Given the description of an element on the screen output the (x, y) to click on. 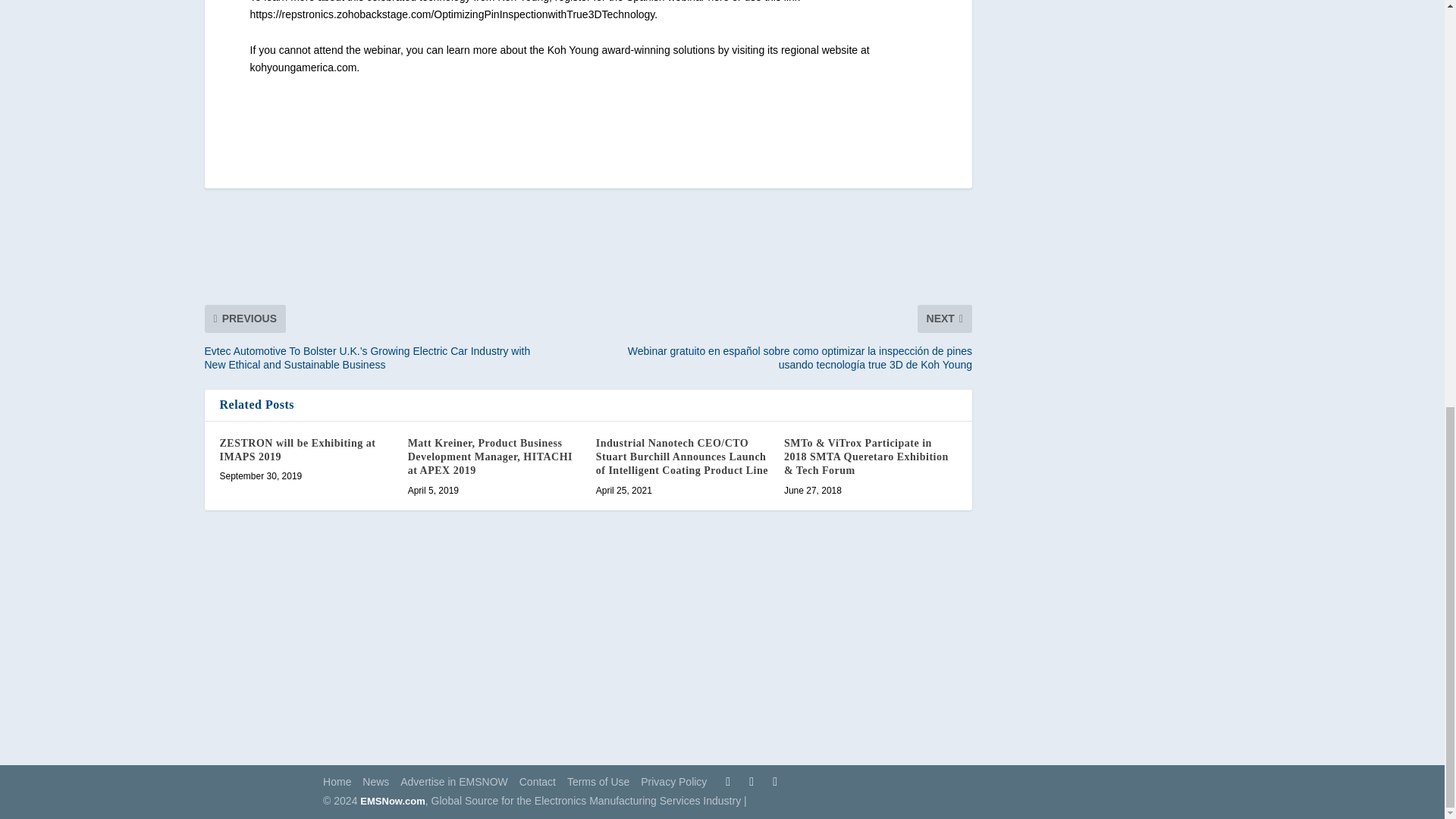
EMSNow.com (392, 800)
ZESTRON will be Exhibiting at IMAPS 2019 (297, 449)
